Given the description of an element on the screen output the (x, y) to click on. 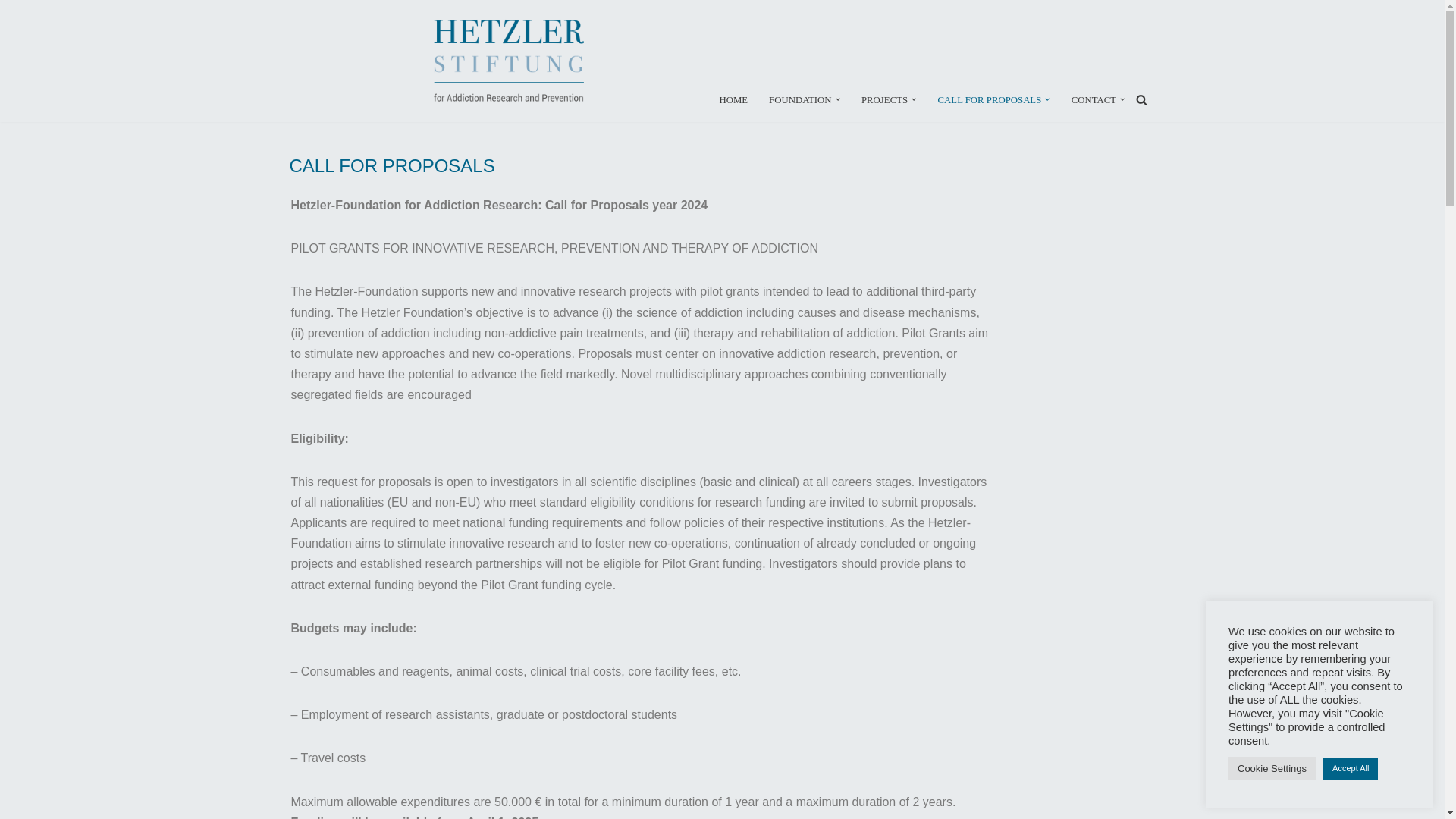
FOUNDATION (799, 99)
CONTACT (1093, 99)
PROJECTS (884, 99)
CALL FOR PROPOSALS (989, 99)
HOME (733, 99)
Zum Inhalt springen (11, 31)
